Given the description of an element on the screen output the (x, y) to click on. 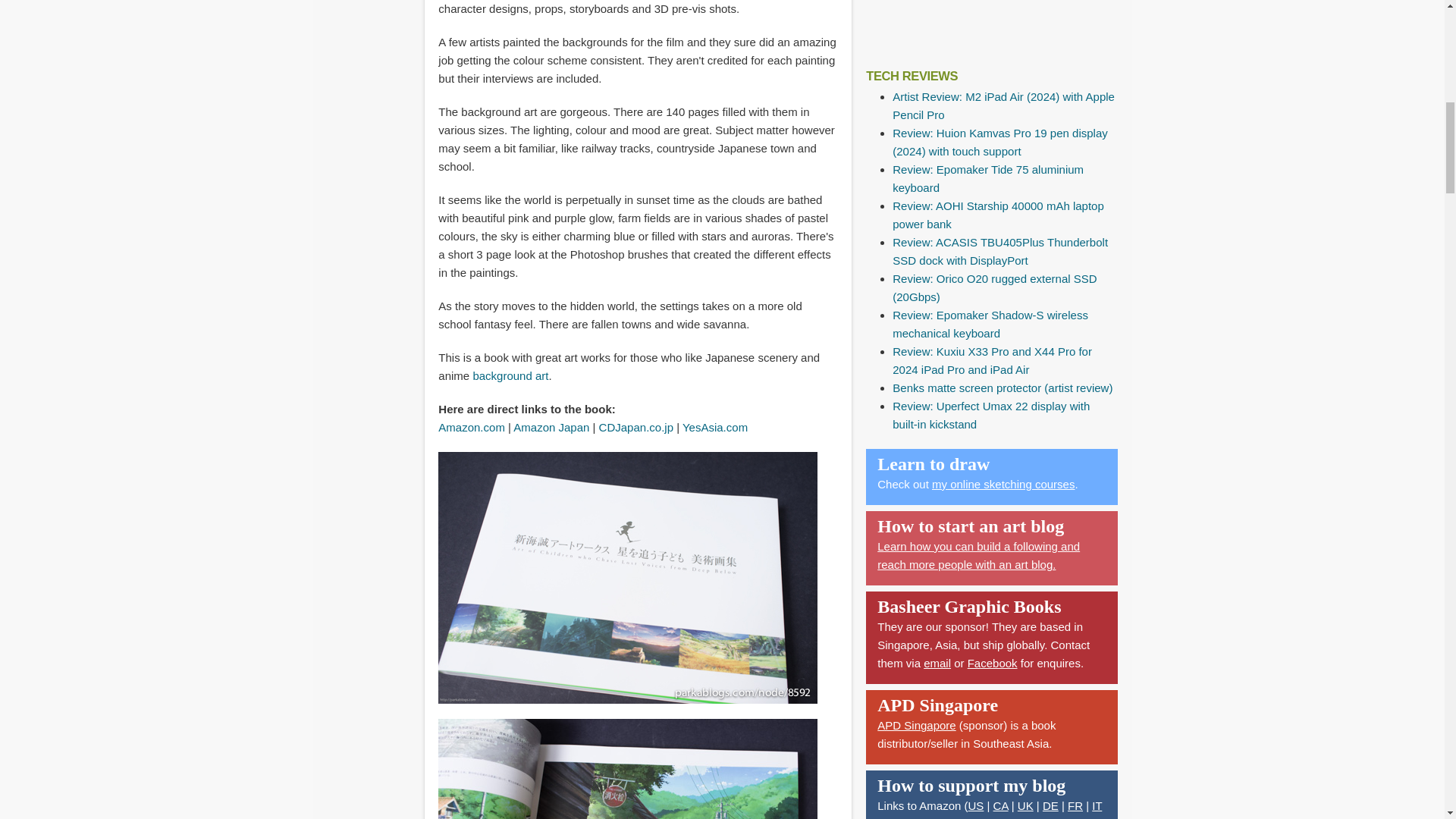
background art (509, 375)
Amazon.com (471, 427)
